Given the description of an element on the screen output the (x, y) to click on. 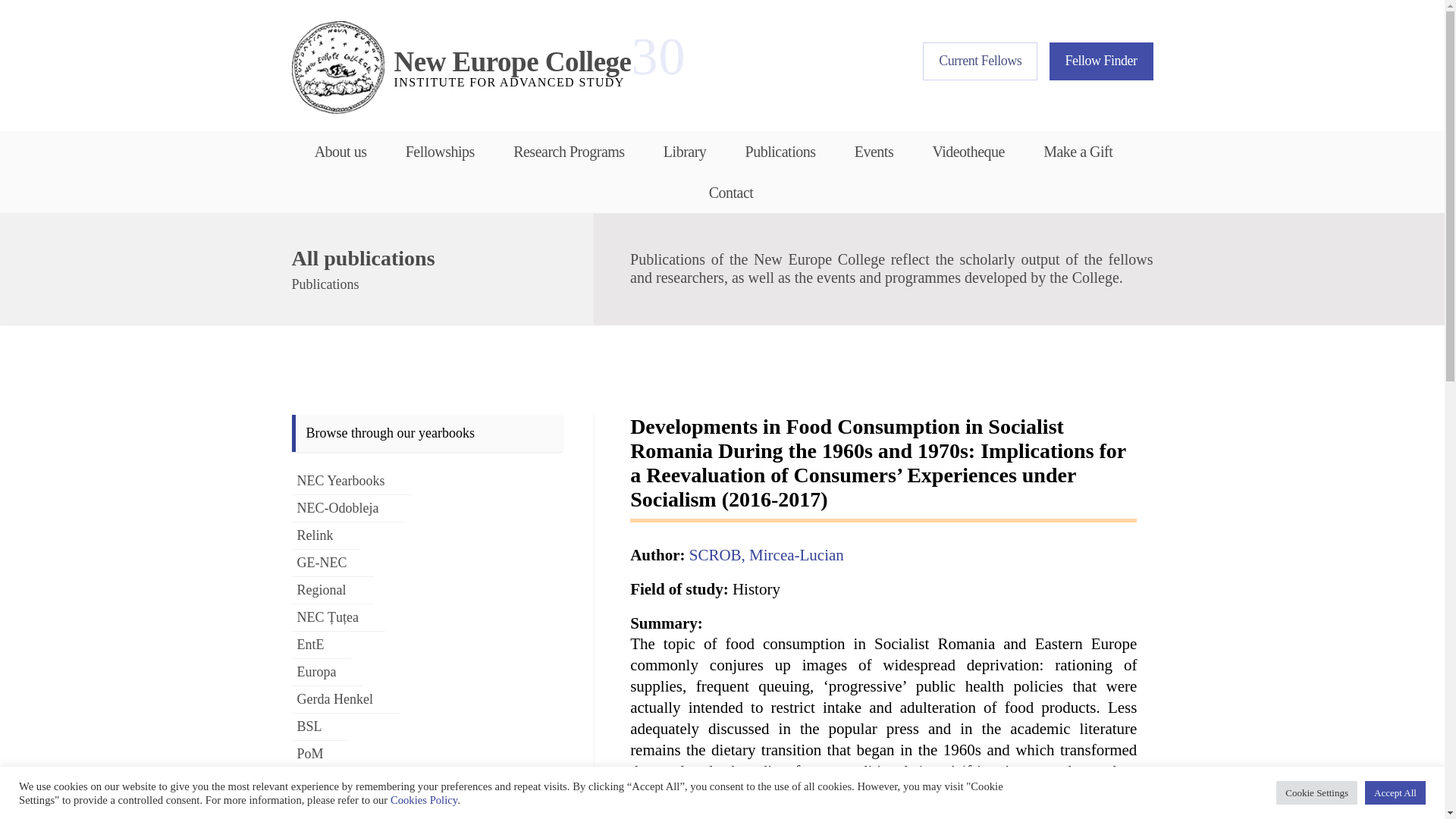
About us (346, 151)
Research Programs (568, 151)
Current Fellows (979, 61)
Publications (780, 151)
Fellow Finder (460, 67)
Fellowships (1101, 61)
Library (440, 151)
